Given the description of an element on the screen output the (x, y) to click on. 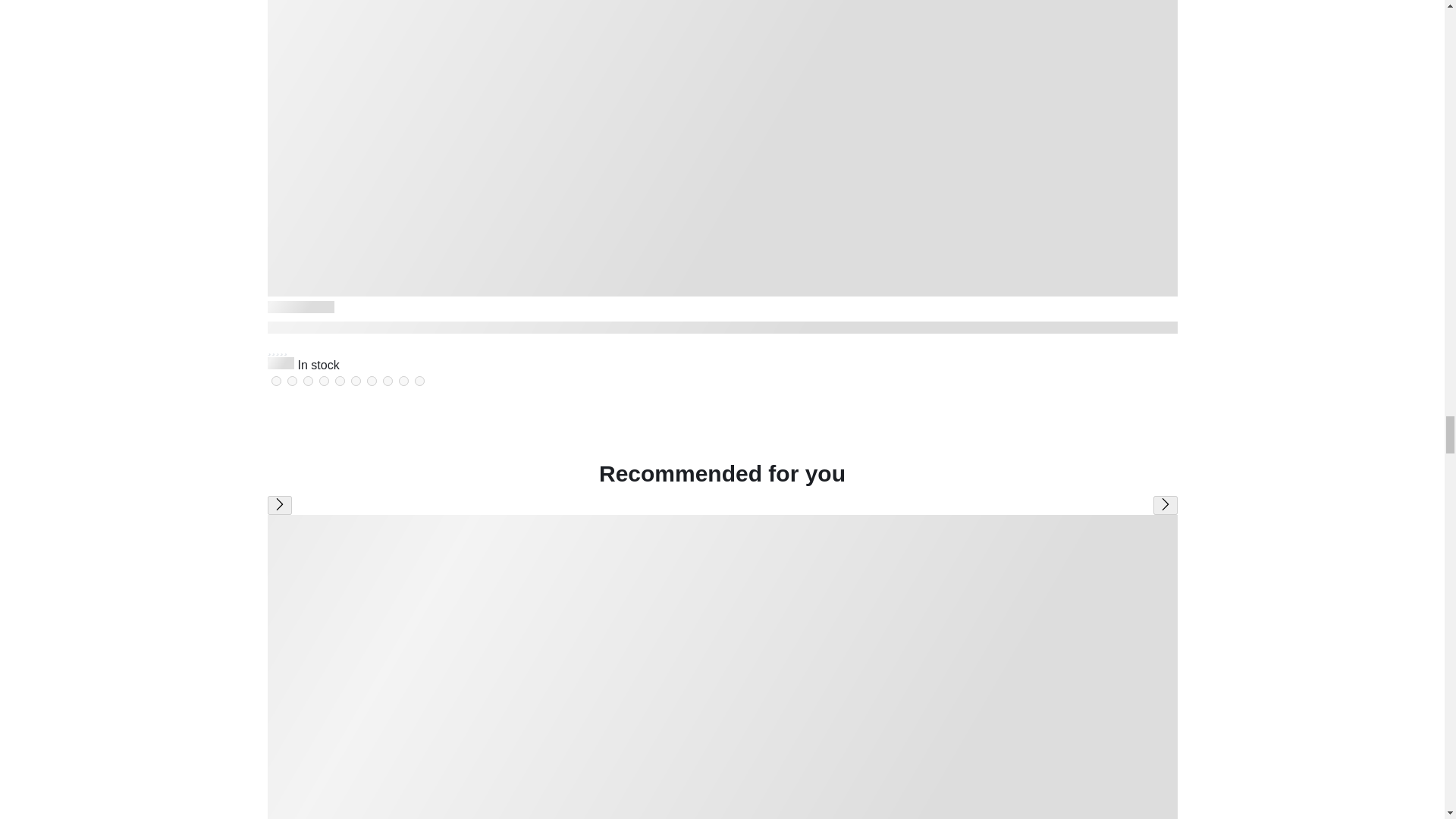
on (323, 380)
on (275, 380)
on (371, 380)
on (307, 380)
on (403, 380)
on (354, 380)
on (386, 380)
on (418, 380)
on (291, 380)
on (339, 380)
